Given the description of an element on the screen output the (x, y) to click on. 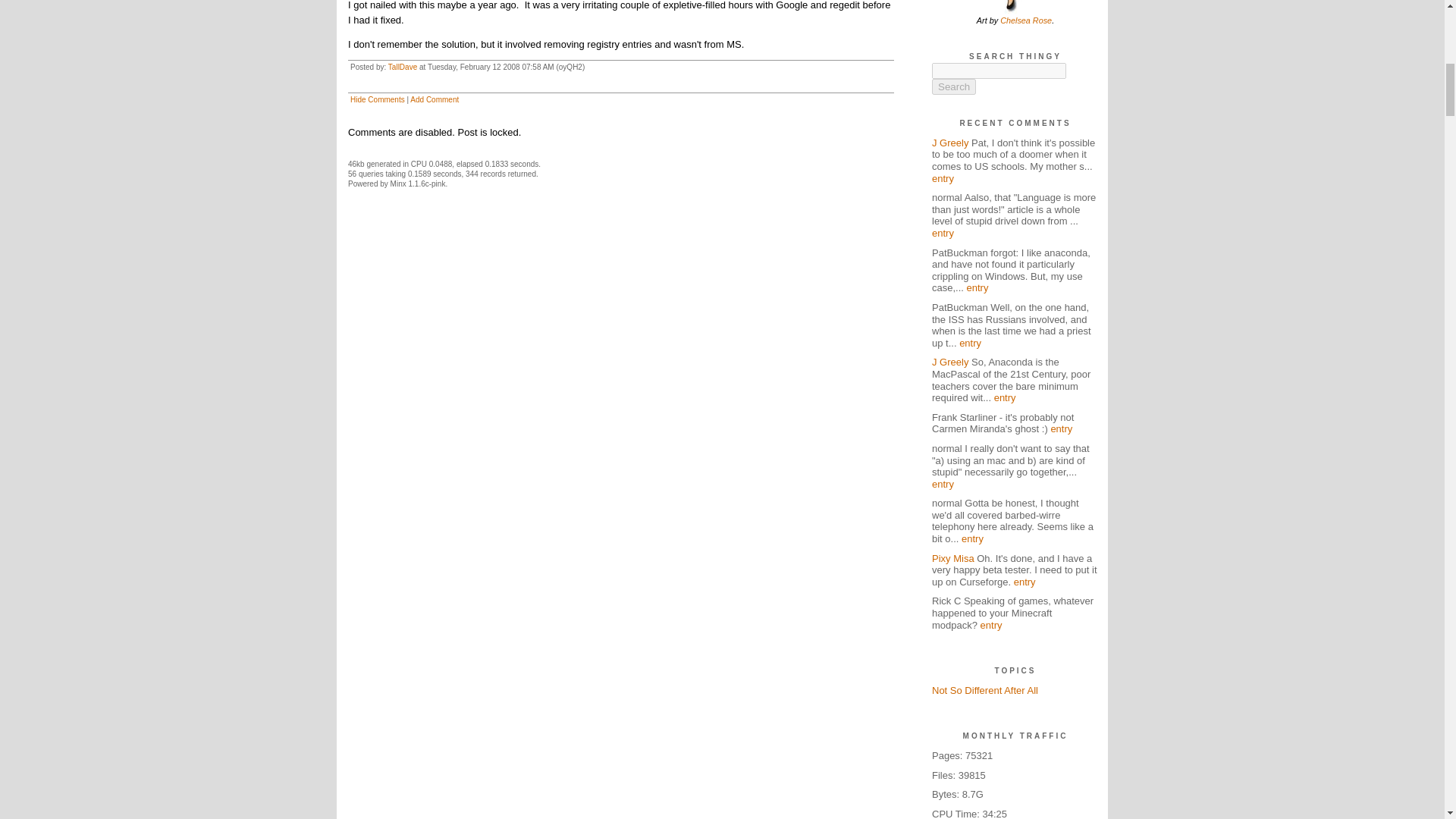
Add Comment (434, 99)
Search (953, 86)
Chelsea Rose (1025, 20)
TallDave (402, 67)
Search (953, 86)
J Greely (949, 142)
entry (942, 178)
entry (942, 233)
Hide Comments (377, 99)
entry (977, 287)
